Given the description of an element on the screen output the (x, y) to click on. 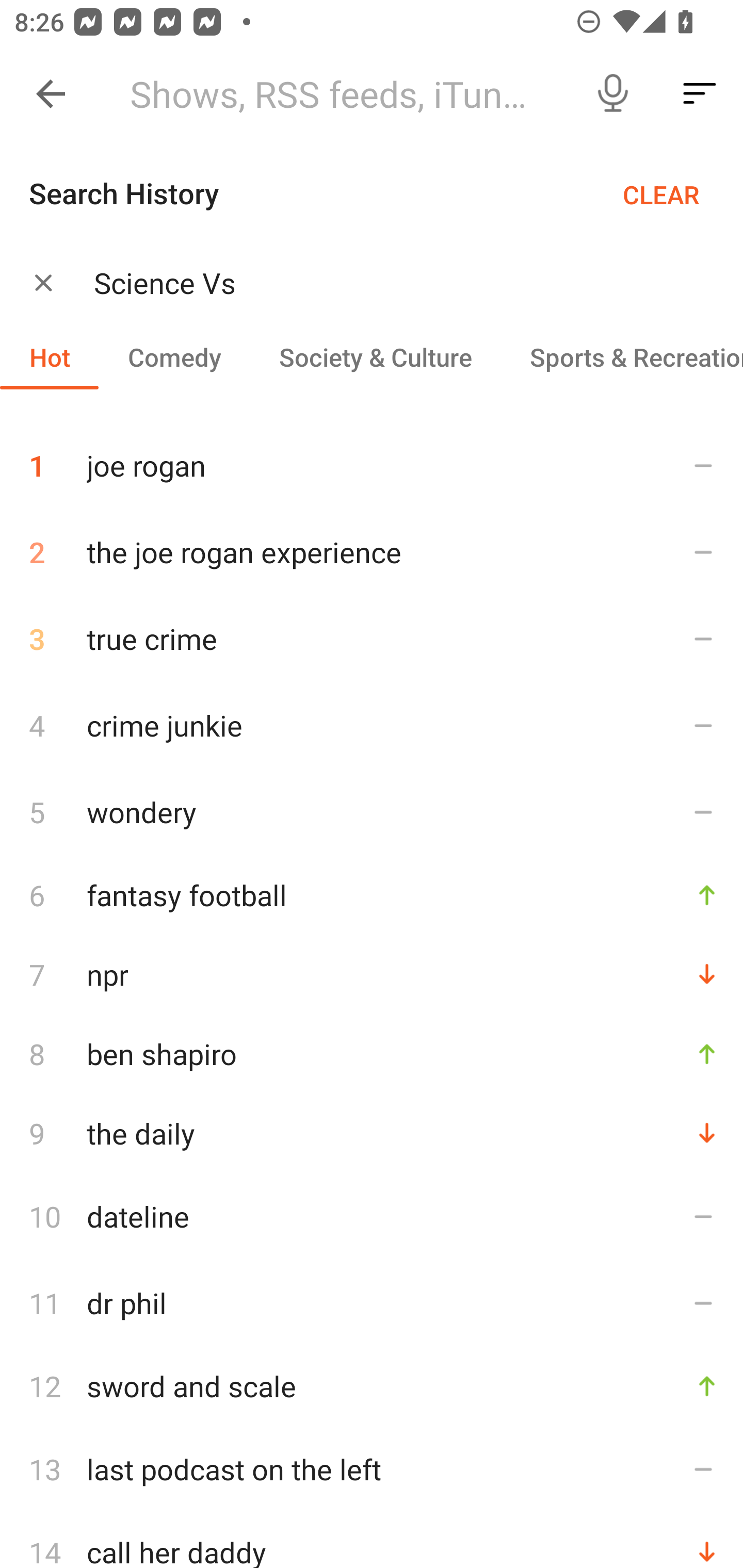
Collapse (50, 93)
Voice Search (612, 93)
Sort By (699, 93)
Shows, RSS feeds, iTunes links (342, 94)
Search History CLEAR  Clear Science Vs (371, 249)
CLEAR (660, 194)
Science Vs (393, 282)
 Clear (43, 282)
Hot (49, 356)
Comedy (173, 356)
Society & Culture (374, 356)
Sports & Recreation (621, 356)
1 joe rogan (371, 457)
2 the joe rogan experience (371, 551)
3 true crime (371, 638)
4 crime junkie (371, 725)
5 wondery (371, 811)
6 fantasy football (371, 894)
7 npr (371, 974)
8 ben shapiro (371, 1053)
9 the daily (371, 1132)
10 dateline (371, 1215)
11 dr phil (371, 1302)
12 sword and scale (371, 1385)
13 last podcast on the left (371, 1468)
14 call her daddy (371, 1539)
